Given the description of an element on the screen output the (x, y) to click on. 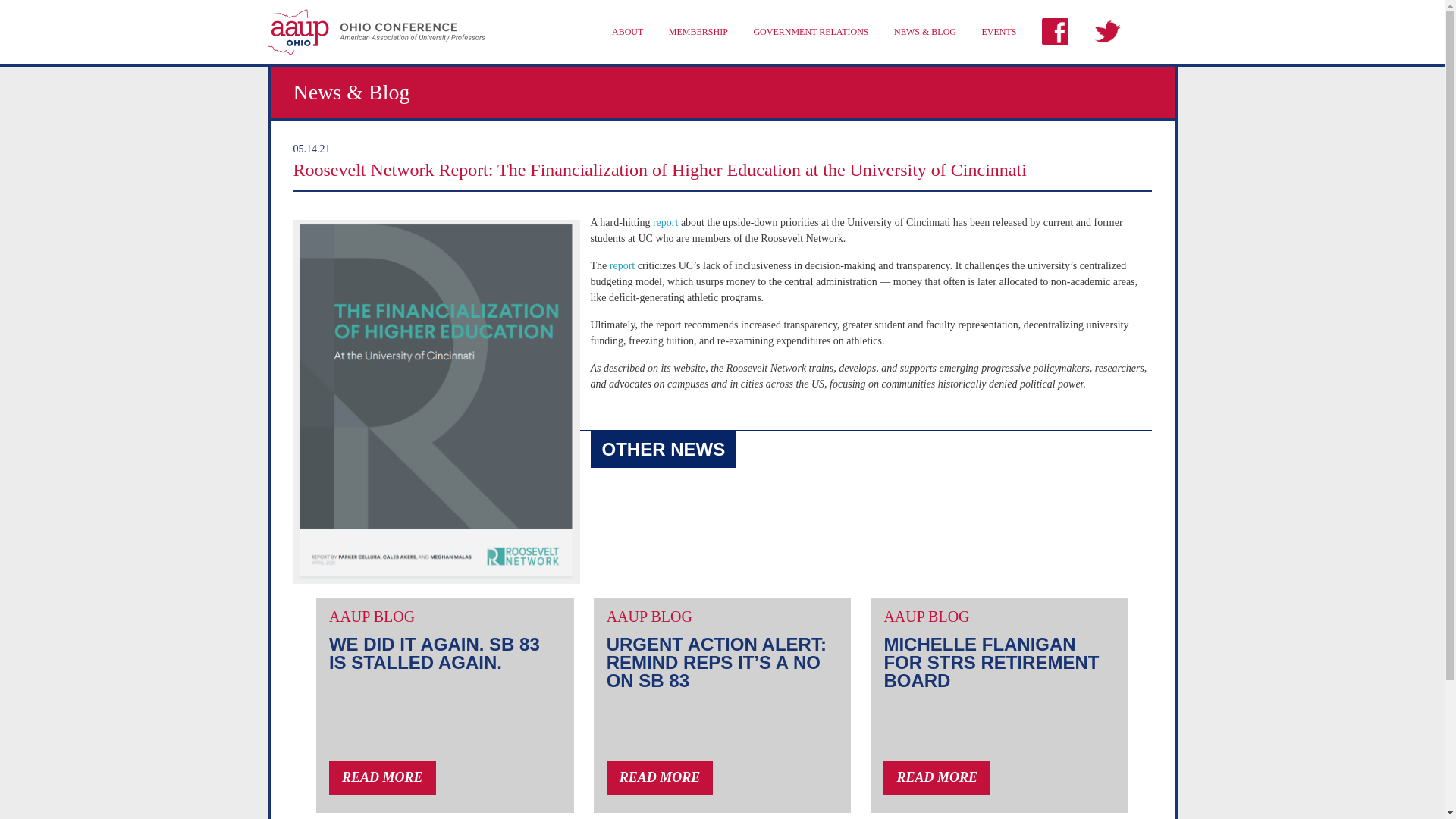
report (665, 222)
EVENTS (999, 31)
READ MORE (382, 777)
MEMBERSHIP (698, 31)
READ MORE (660, 777)
READ MORE (936, 777)
GOVERNMENT RELATIONS (810, 31)
report (622, 265)
AAUP OHIO CONFERENCE (375, 31)
ABOUT (626, 31)
